Given the description of an element on the screen output the (x, y) to click on. 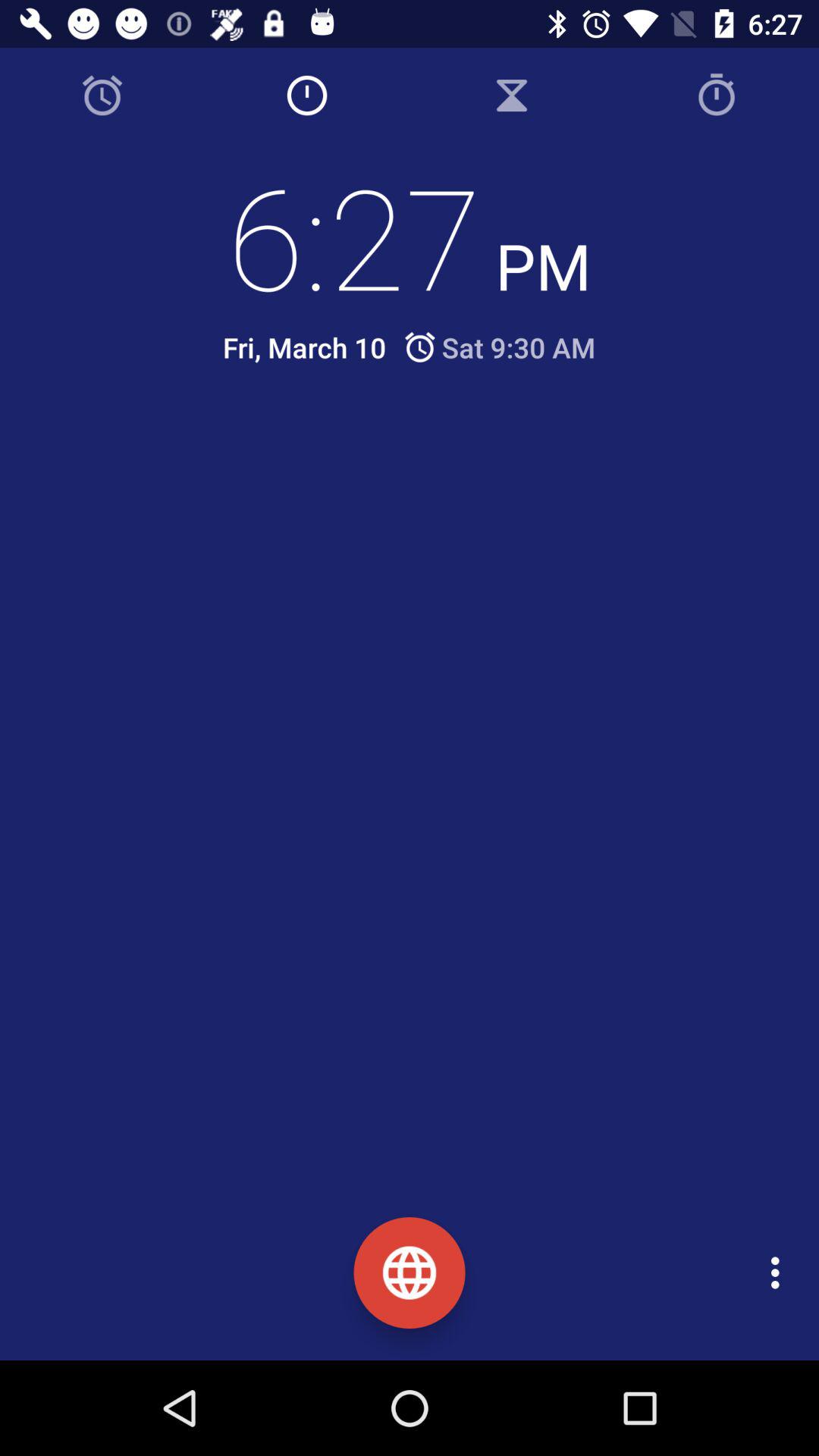
tap fri, march 10 item (304, 347)
